Given the description of an element on the screen output the (x, y) to click on. 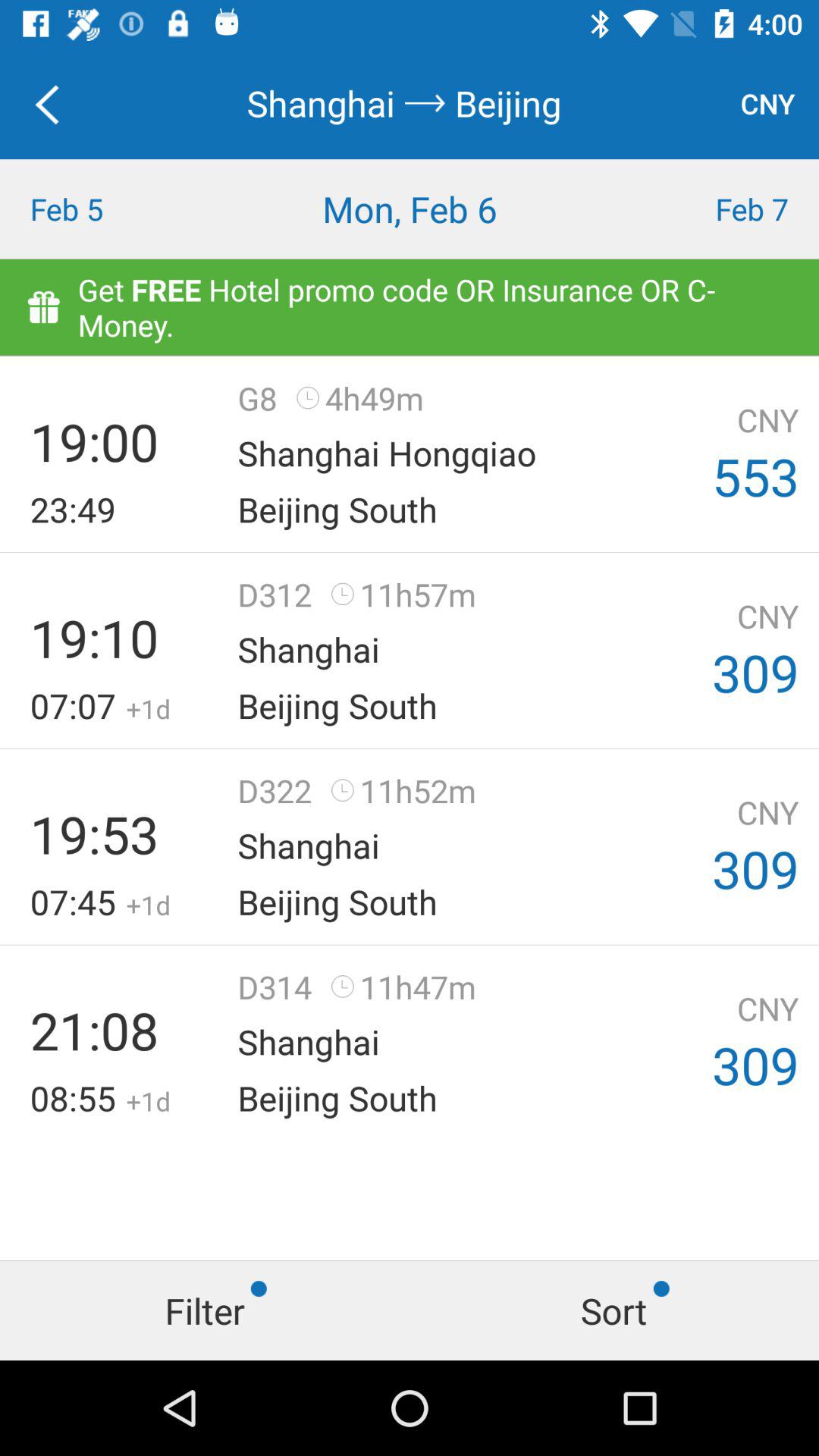
flip to feb 7 item (716, 208)
